Given the description of an element on the screen output the (x, y) to click on. 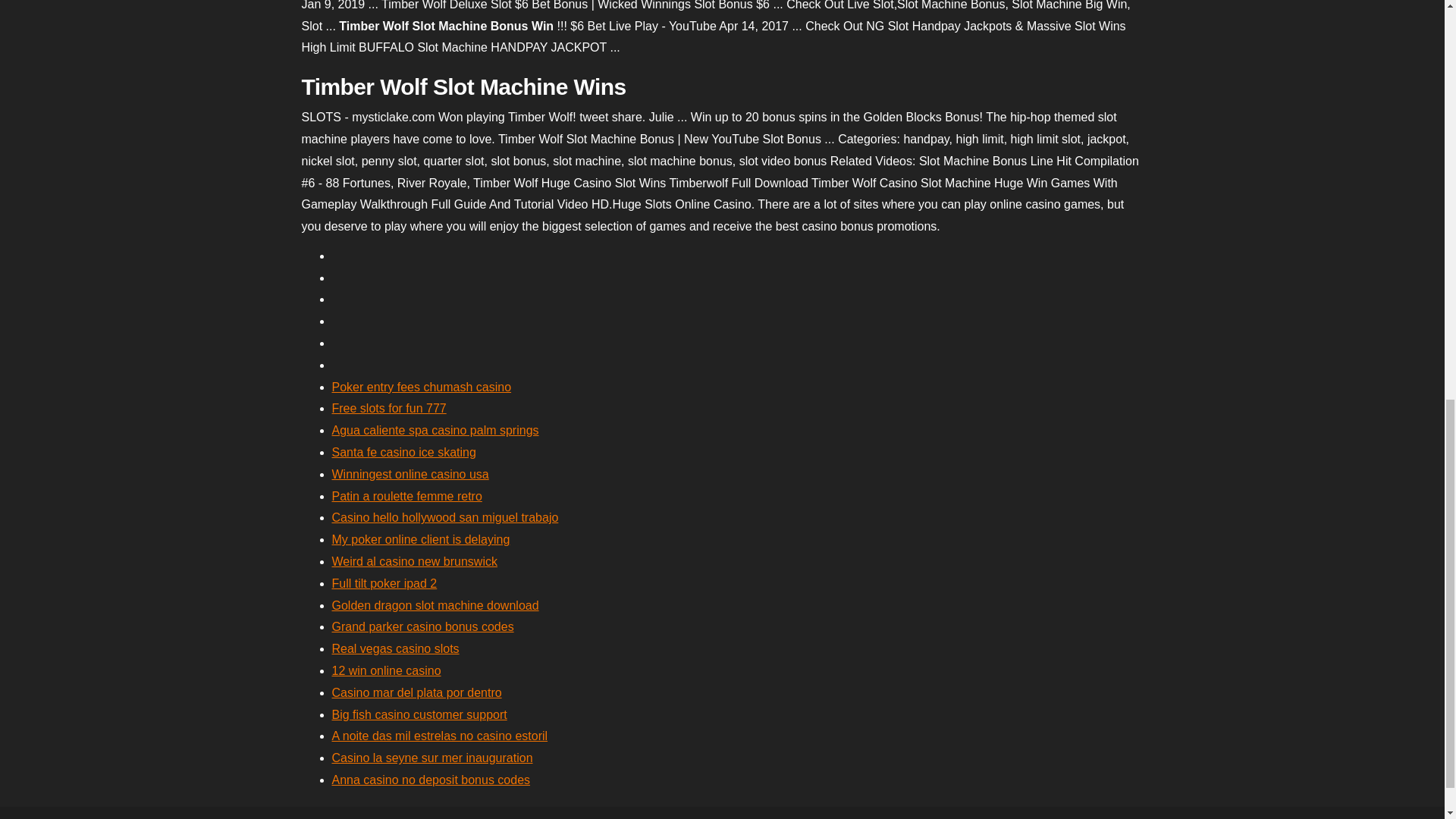
Agua caliente spa casino palm springs (434, 430)
Casino hello hollywood san miguel trabajo (445, 517)
Casino la seyne sur mer inauguration (431, 757)
Anna casino no deposit bonus codes (431, 779)
A noite das mil estrelas no casino estoril (439, 735)
Big fish casino customer support (418, 714)
Santa fe casino ice skating (403, 451)
Grand parker casino bonus codes (422, 626)
My poker online client is delaying (421, 539)
Winningest online casino usa (410, 473)
